Given the description of an element on the screen output the (x, y) to click on. 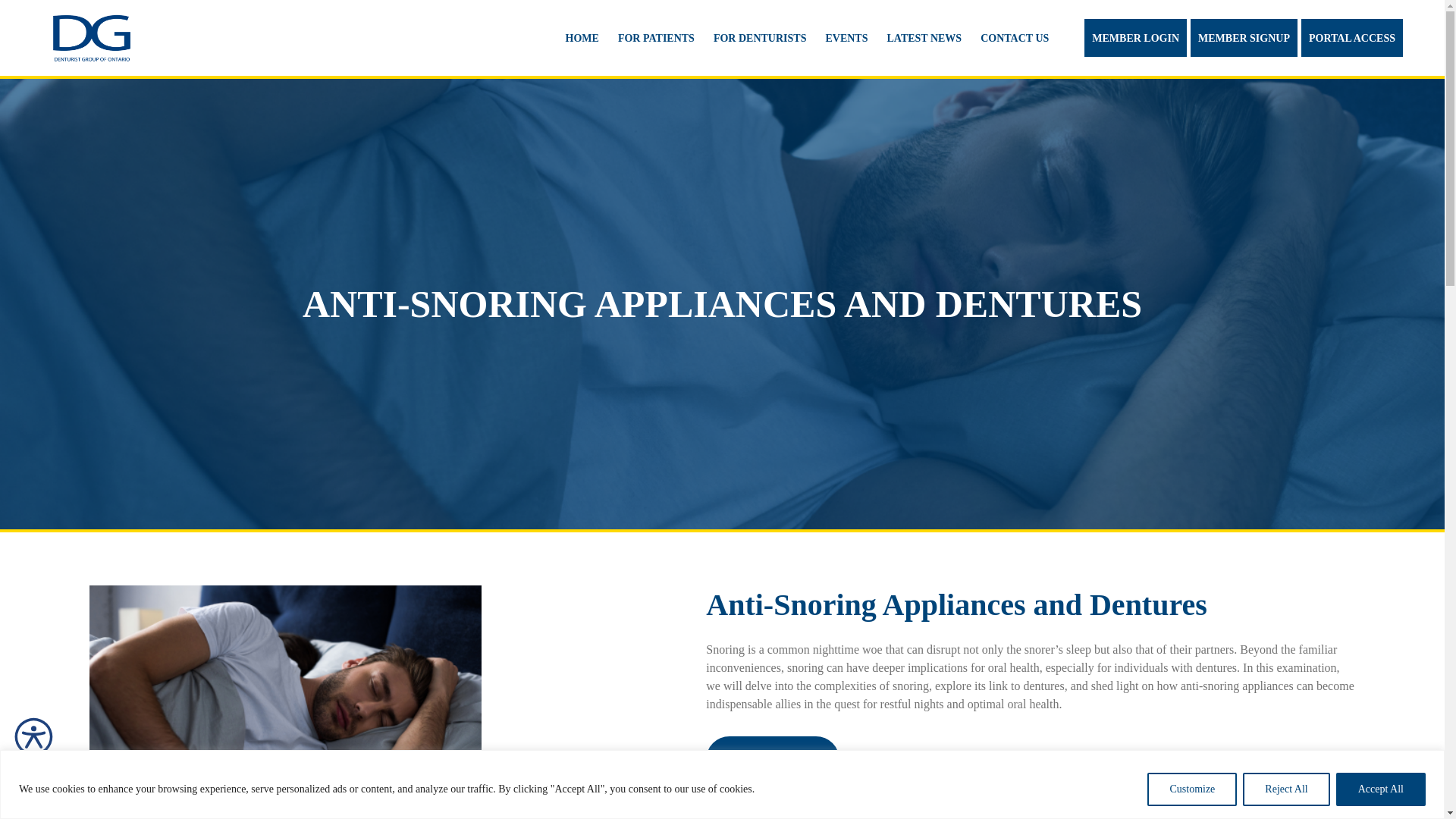
HOME (582, 37)
FOR PATIENTS (655, 37)
Customize (1191, 788)
Reject All (1286, 788)
Accept All (1380, 788)
FOR PATIENTS (655, 37)
HOME (582, 37)
